Given the description of an element on the screen output the (x, y) to click on. 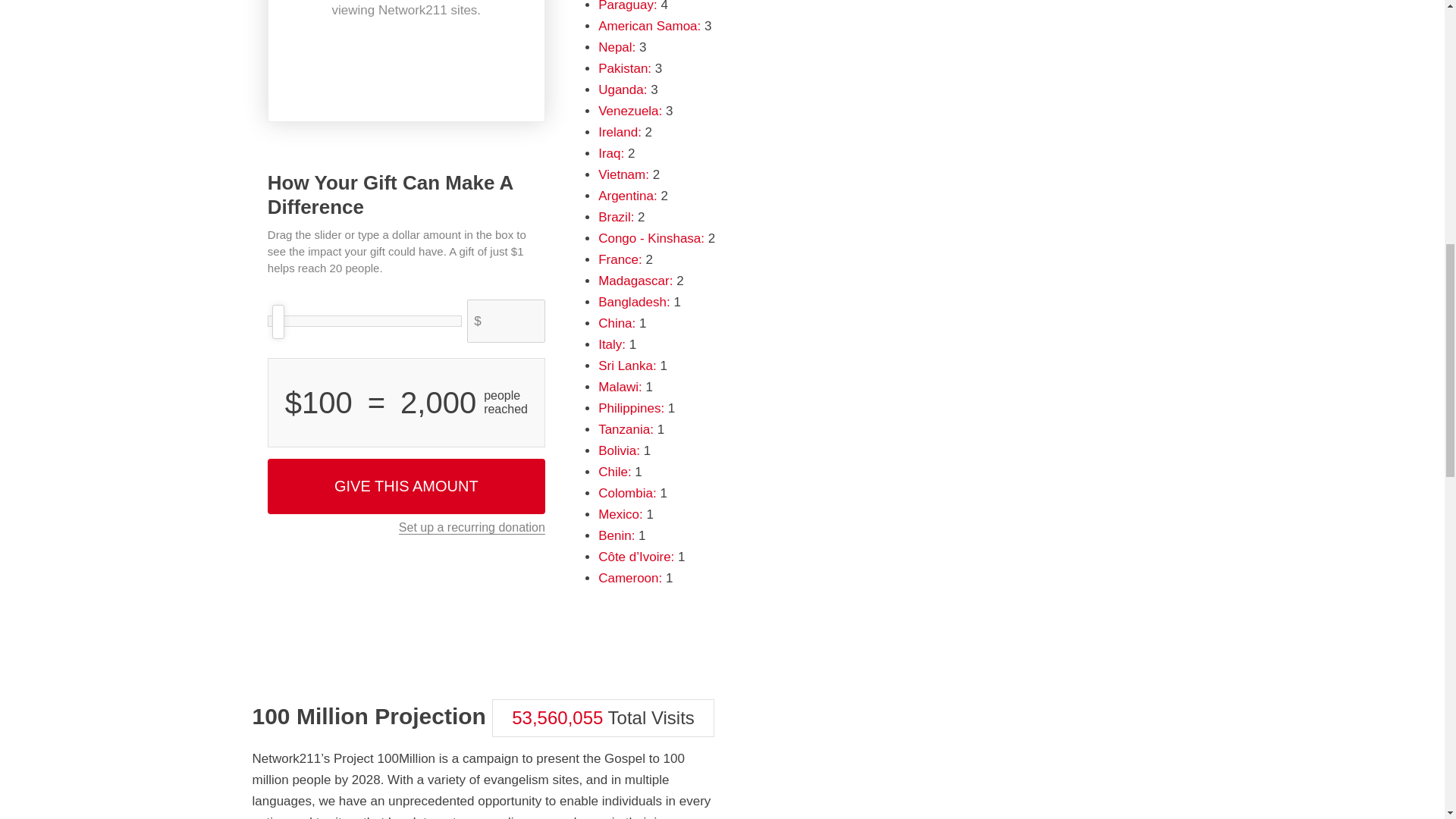
100 (364, 321)
Set up a recurring donation (471, 527)
GIVE THIS AMOUNT (405, 486)
